Given the description of an element on the screen output the (x, y) to click on. 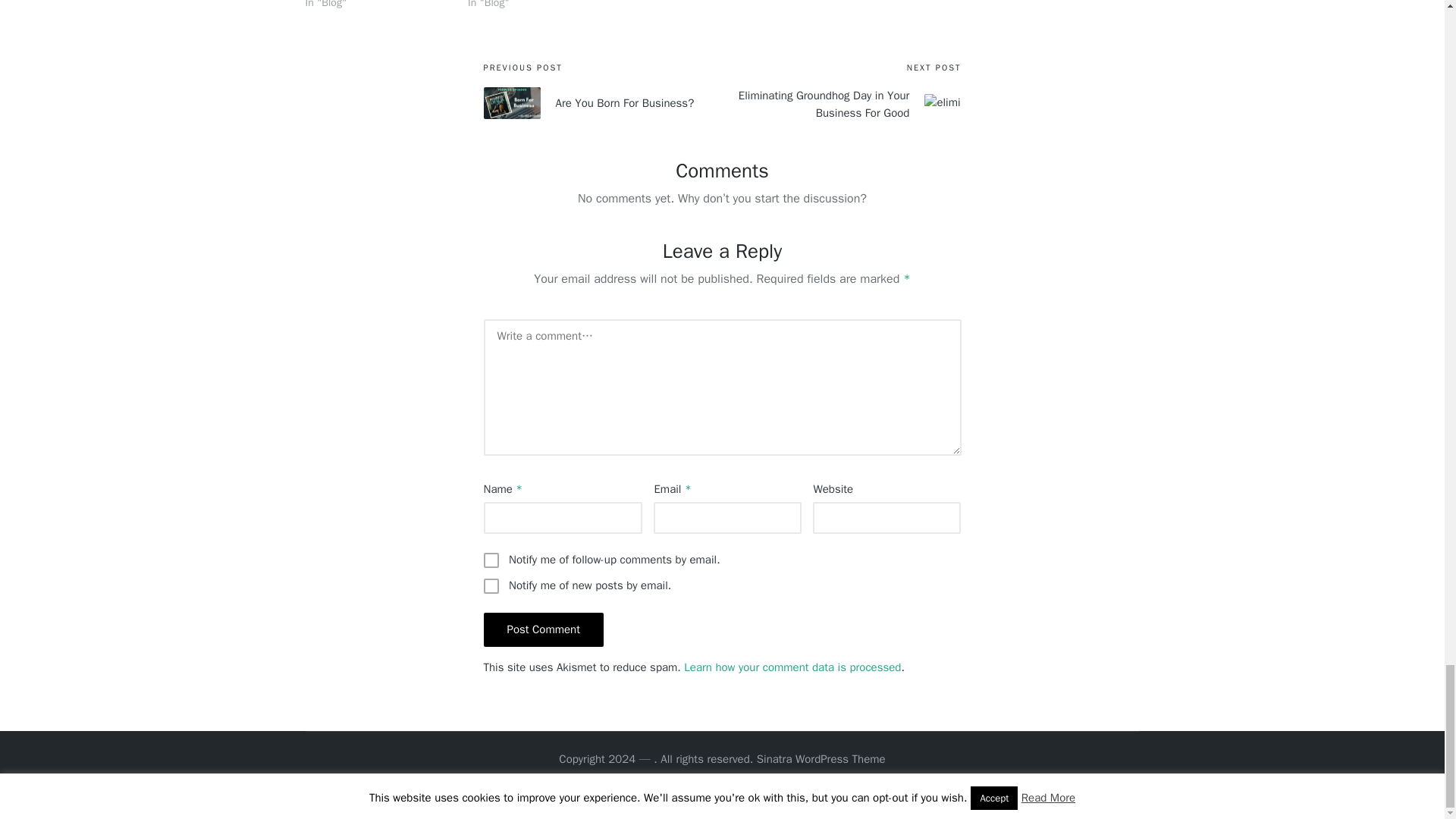
Post Comment (543, 629)
subscribe (491, 585)
subscribe (491, 560)
